Given the description of an element on the screen output the (x, y) to click on. 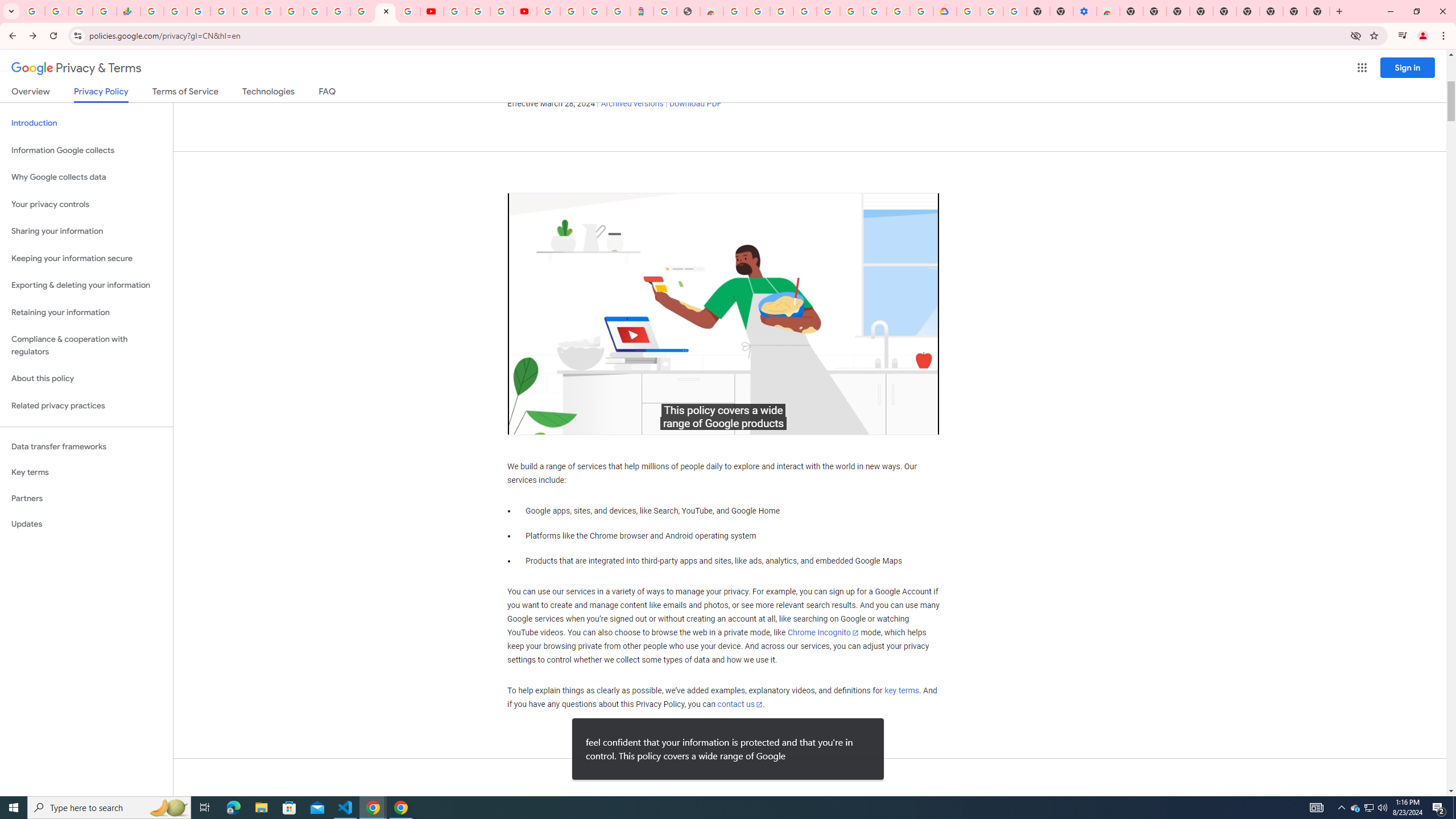
Sign in - Google Accounts (827, 11)
Google Account Help (992, 11)
Subtitles/closed captions unavailable (836, 422)
Sign in - Google Accounts (338, 11)
Privacy Checkup (408, 11)
